Given the description of an element on the screen output the (x, y) to click on. 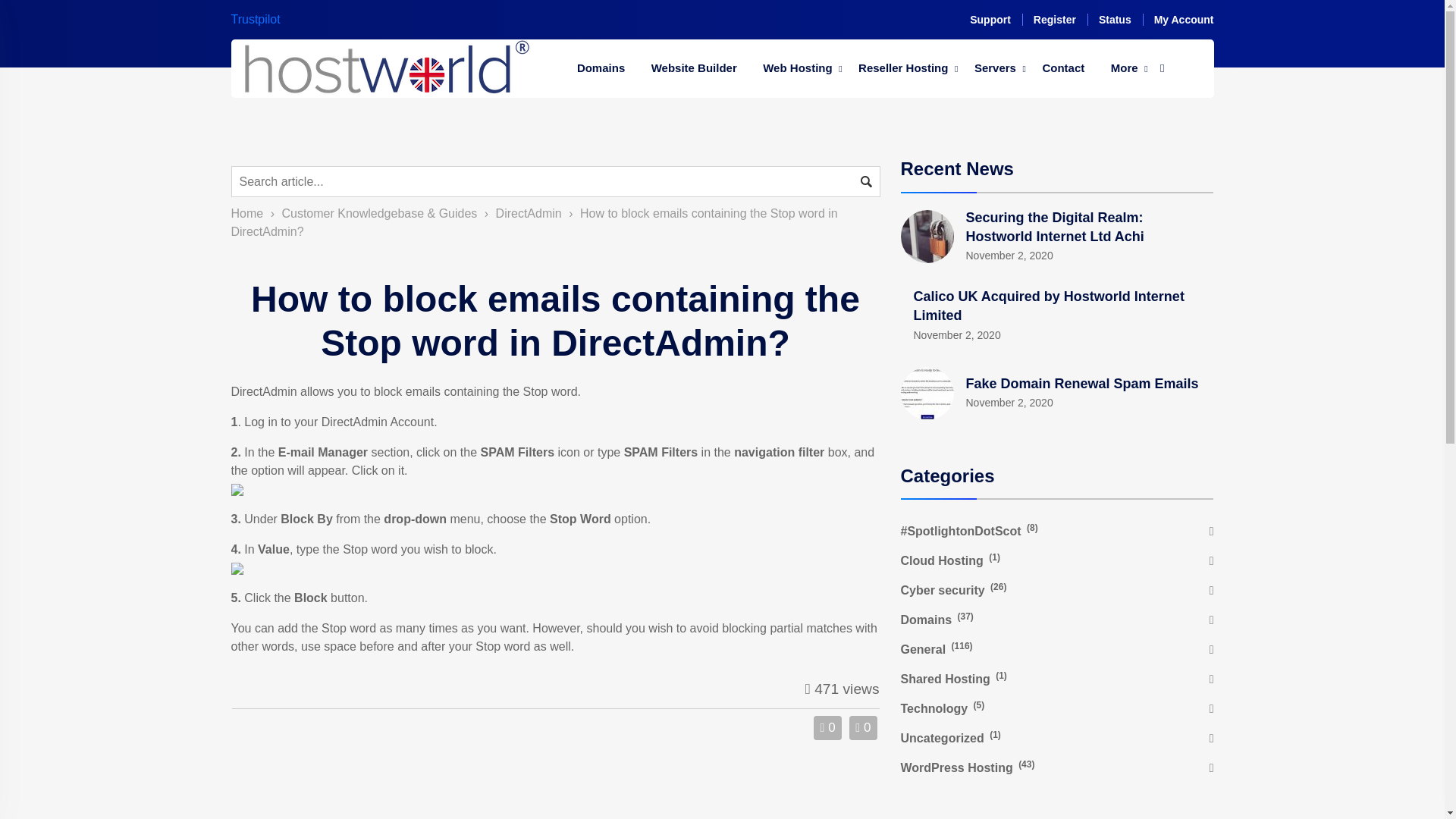
Reseller Hosting (903, 68)
More (1124, 68)
Servers (994, 68)
Status (1115, 19)
Contact (1063, 68)
Trustpilot (254, 19)
Website Builder (694, 68)
More (1124, 68)
Support (989, 19)
Servers (994, 68)
Register (1054, 19)
Website Builder (694, 68)
Web Hosting (797, 68)
My Account (1184, 19)
Contact (1063, 68)
